Given the description of an element on the screen output the (x, y) to click on. 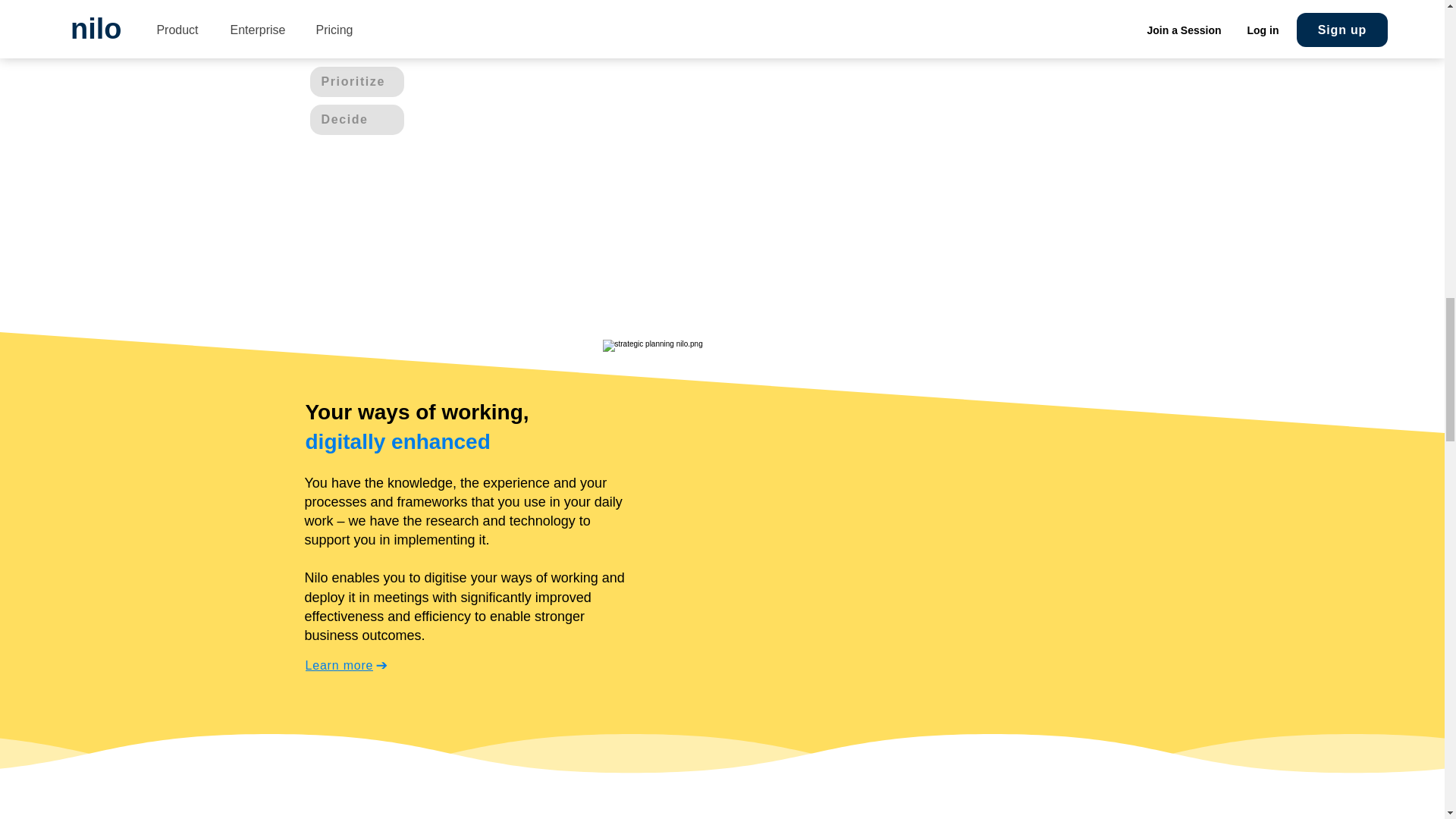
Learn more (351, 665)
Learn more (366, 9)
Decide (355, 119)
Organize (355, 43)
Prioritize (355, 81)
